Given the description of an element on the screen output the (x, y) to click on. 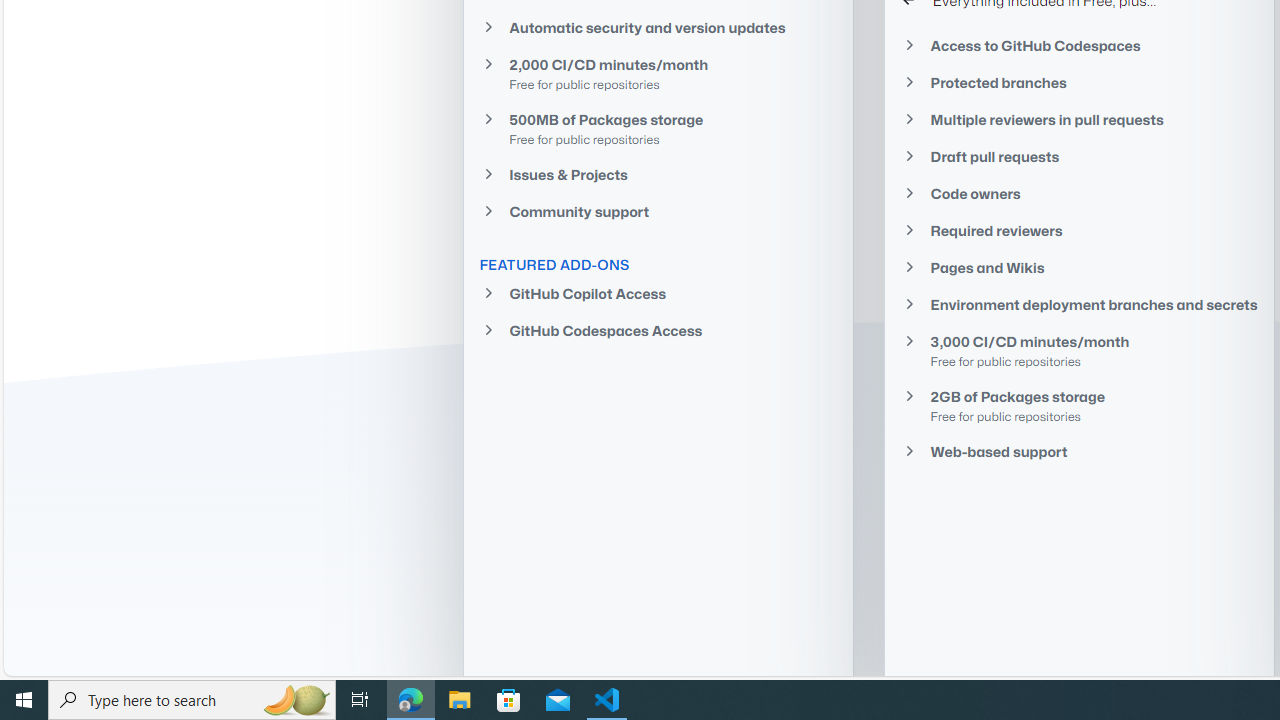
2GB of Packages storageFree for public repositories (1079, 405)
Draft pull requests (1079, 156)
GitHub Codespaces Access (657, 330)
Multiple reviewers in pull requests (1079, 119)
Automatic security and version updates (657, 27)
Community support (657, 211)
Access to GitHub Codespaces (1079, 45)
Web-based support (1079, 451)
2GB of Packages storage Free for public repositories (1079, 406)
Pages and Wikis (1079, 267)
Web-based support (1079, 451)
Code owners (1079, 193)
Multiple reviewers in pull requests (1079, 119)
Protected branches (1079, 82)
GitHub Copilot Access (657, 294)
